Given the description of an element on the screen output the (x, y) to click on. 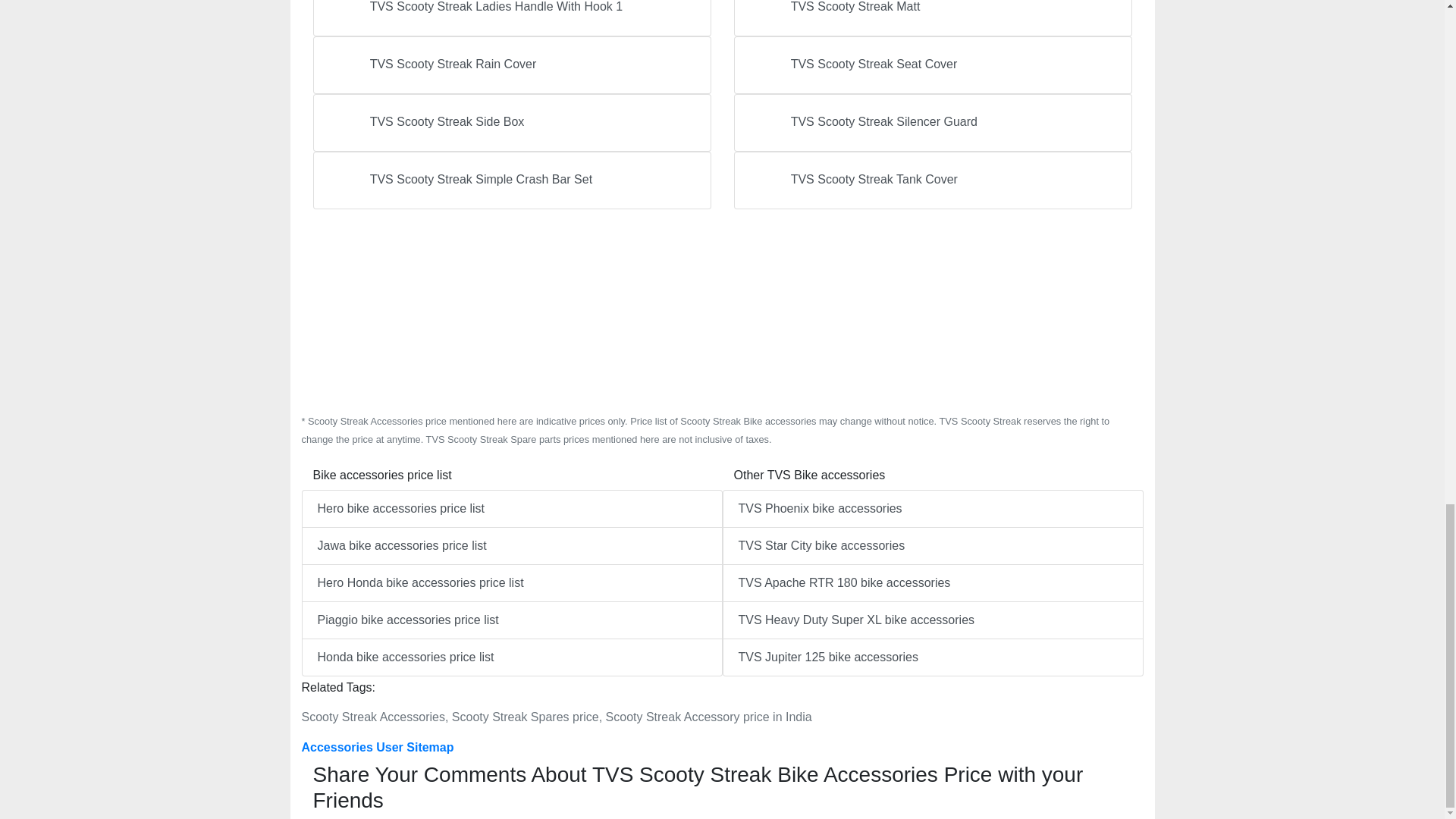
TVS Scooty Streak Ladies Handle With Hook 1 (511, 18)
TVS Scooty Streak Tank Cover (932, 180)
TVS Scooty Streak Side Box (511, 122)
Jawa bike accessories price list (511, 546)
TVS Heavy Duty Super XL bike accessories (932, 620)
TVS Jupiter 125 bike accessories (932, 657)
Honda bike accessories price list (511, 657)
Hero bike accessories price list (511, 508)
Accessories User Sitemap (377, 747)
Hero Honda bike accessories price list (511, 582)
